Given the description of an element on the screen output the (x, y) to click on. 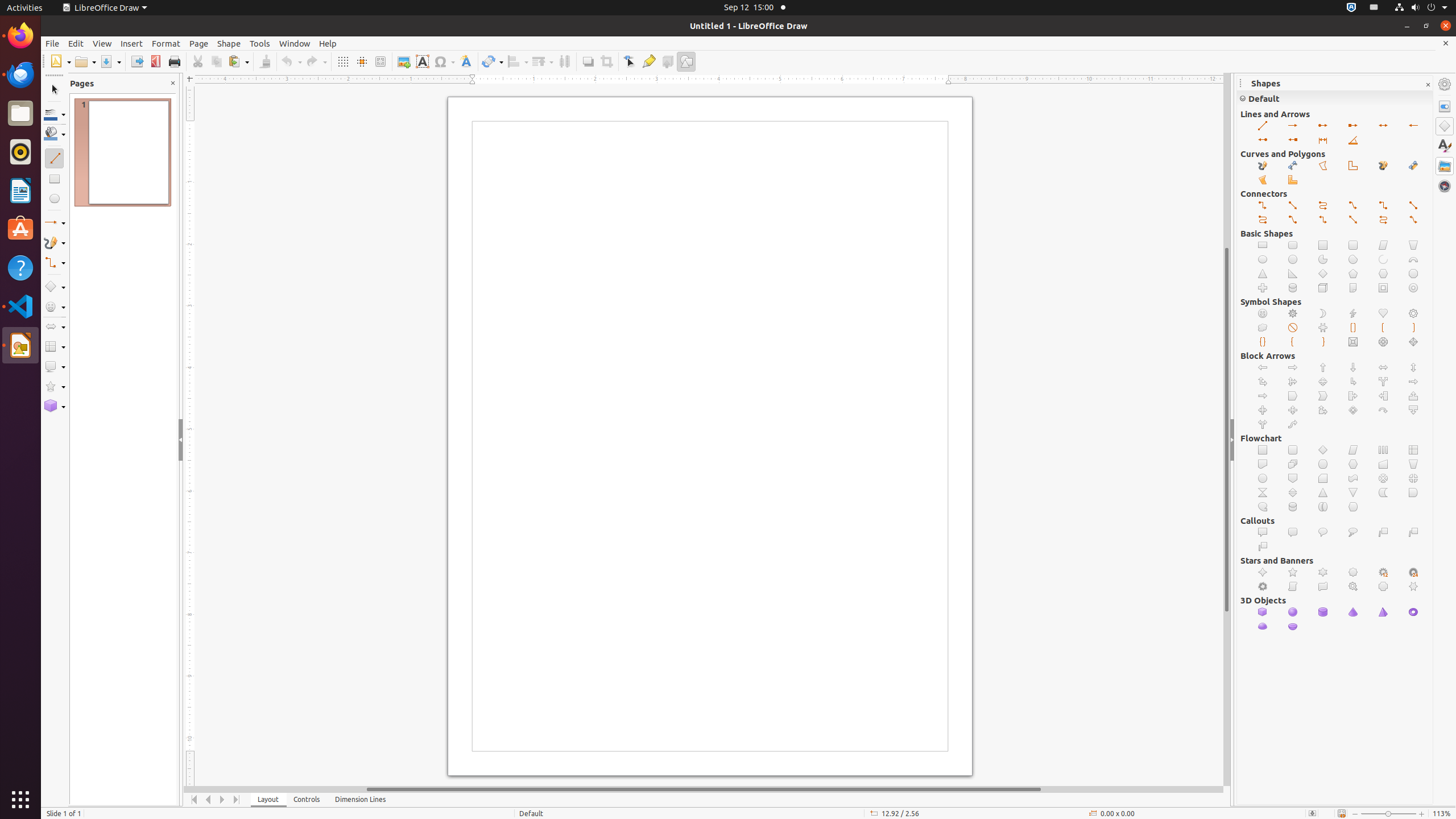
Vertical Ruler Element type: ruler (190, 436)
Paste Element type: push-button (237, 61)
Move Right Element type: push-button (222, 799)
Horizontal Scroll Element type: list-item (1323, 586)
Flowchart: Display Element type: list-item (1353, 506)
